Given the description of an element on the screen output the (x, y) to click on. 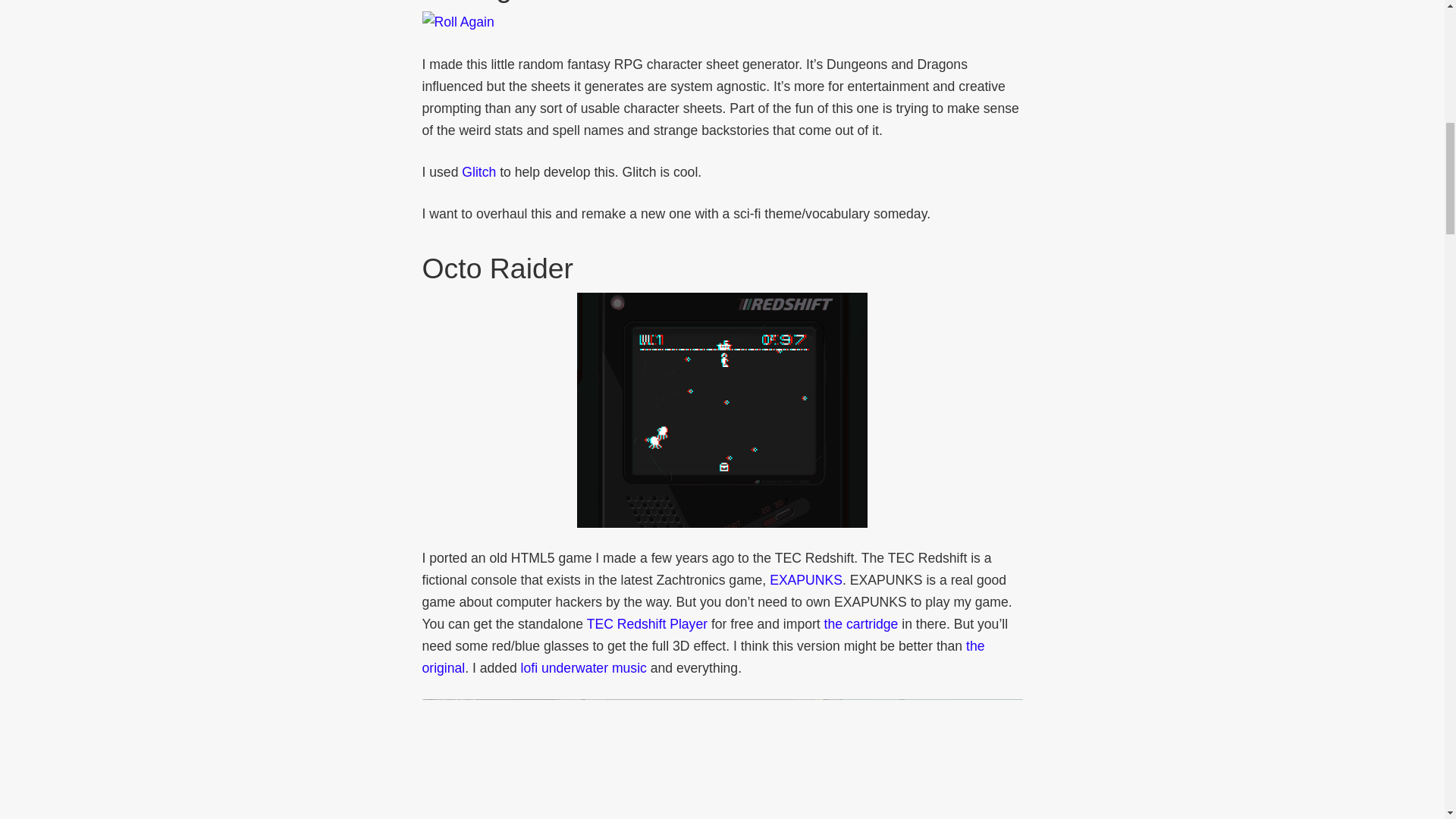
the original (703, 656)
lofi underwater music (583, 667)
TEC Redshift Player (646, 623)
the cartridge (861, 623)
EXAPUNKS (806, 580)
Glitch (478, 171)
